Given the description of an element on the screen output the (x, y) to click on. 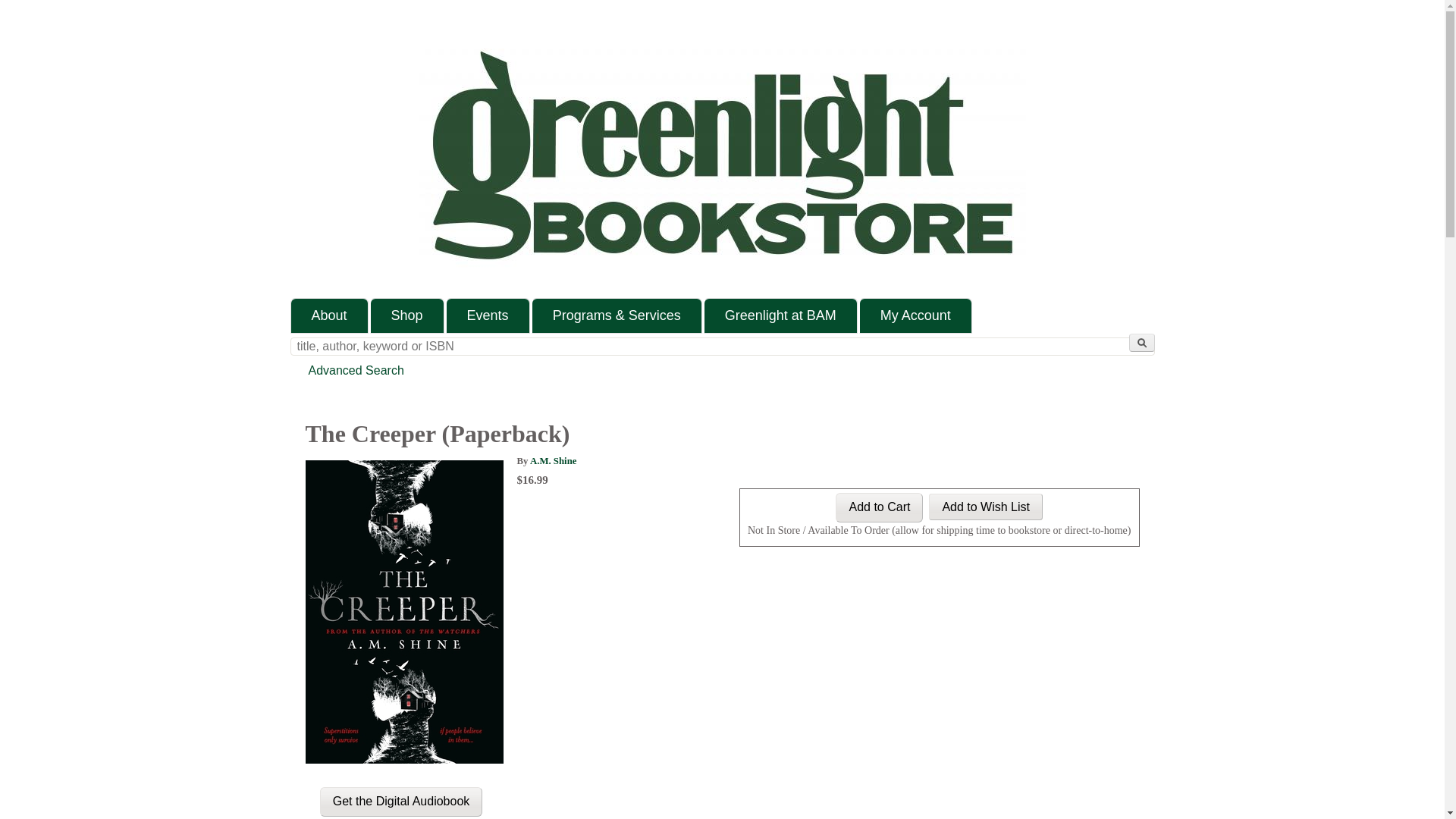
Shop (407, 315)
Add to Cart (879, 507)
Get the Digital Audiobook (401, 801)
About (329, 315)
Search (1141, 342)
